Given the description of an element on the screen output the (x, y) to click on. 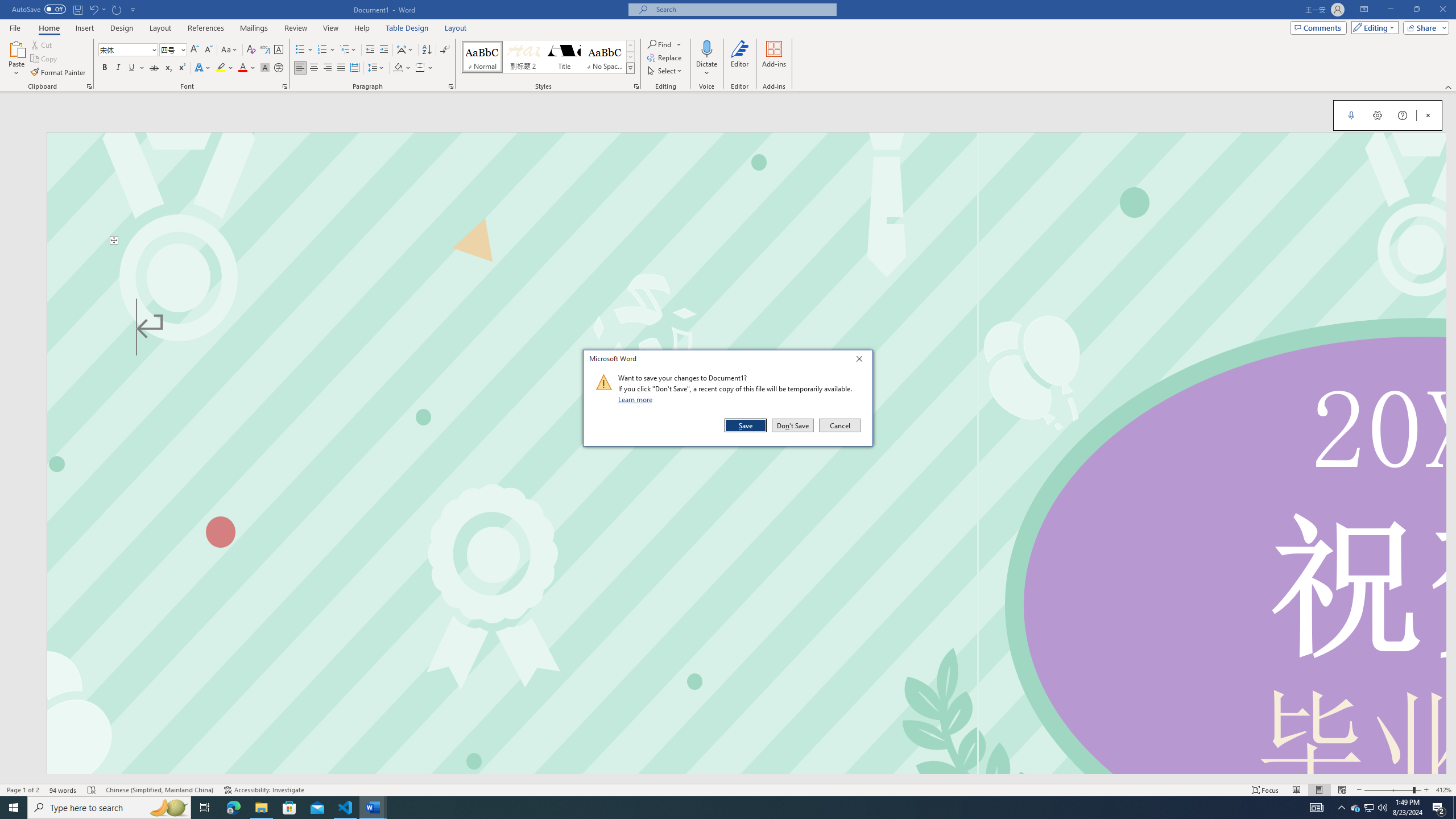
Replace... (665, 56)
Microsoft search (742, 9)
Spelling and Grammar Check Errors (91, 790)
